Given the description of an element on the screen output the (x, y) to click on. 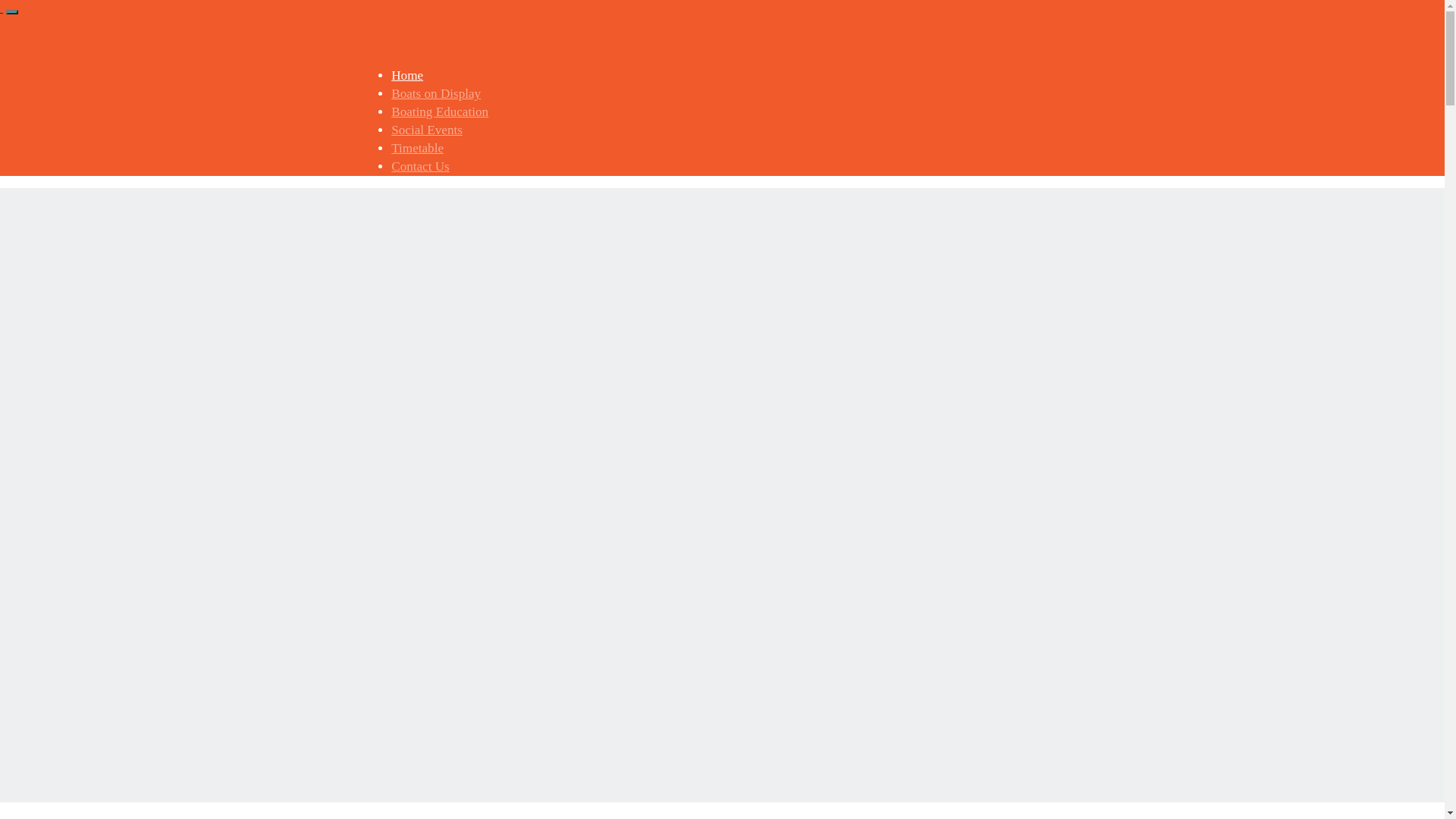
  Element type: text (1, 7)
Boats on Display Element type: text (435, 93)
Boating Education Element type: text (439, 111)
Home Element type: text (407, 75)
Social Events Element type: text (426, 129)
Contact Us Element type: text (420, 166)
Timetable Element type: text (417, 148)
